Given the description of an element on the screen output the (x, y) to click on. 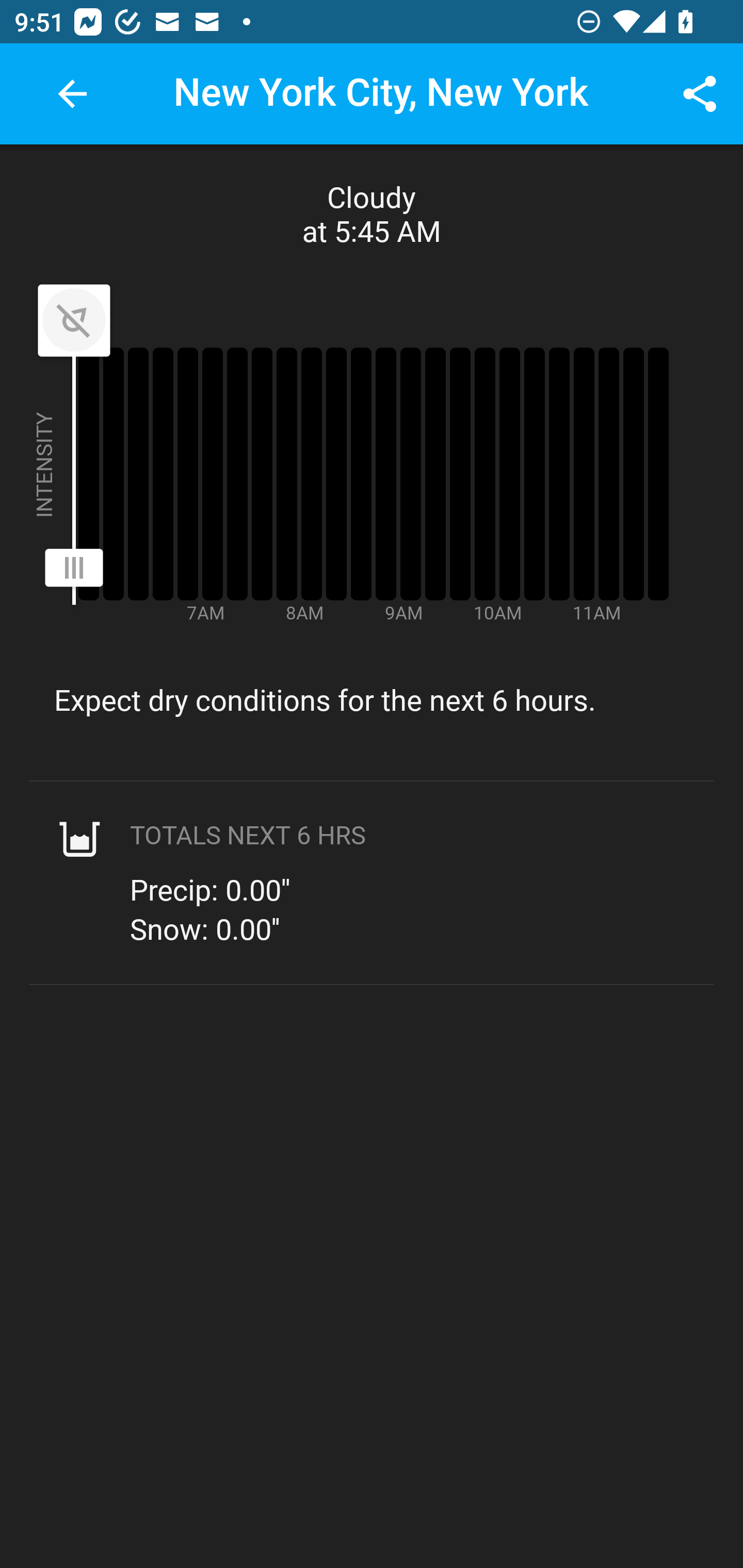
back (71, 93)
Share (699, 93)
